Given the description of an element on the screen output the (x, y) to click on. 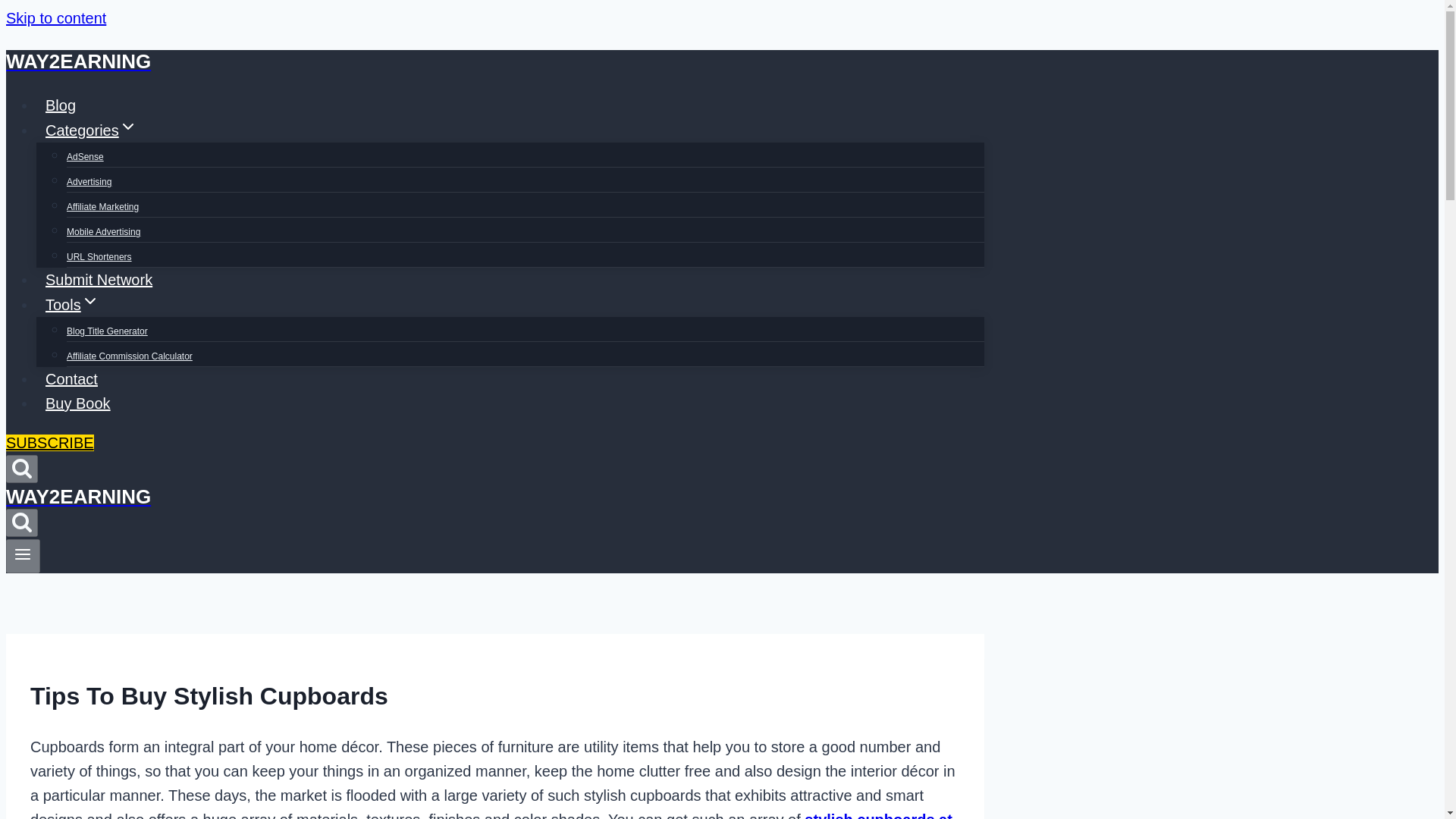
SUBSCRIBE (49, 442)
AdSense (84, 156)
ToolsExpand (71, 304)
Toggle Menu (22, 554)
Affiliate Marketing (102, 206)
CategoriesExpand (91, 130)
Blog Title Generator (107, 330)
Skip to content (55, 17)
Search (21, 467)
Affiliate Commission Calculator (129, 356)
Expand (90, 300)
Toggle Menu (22, 555)
WAY2EARNING (494, 61)
Buy Book (77, 402)
